Given the description of an element on the screen output the (x, y) to click on. 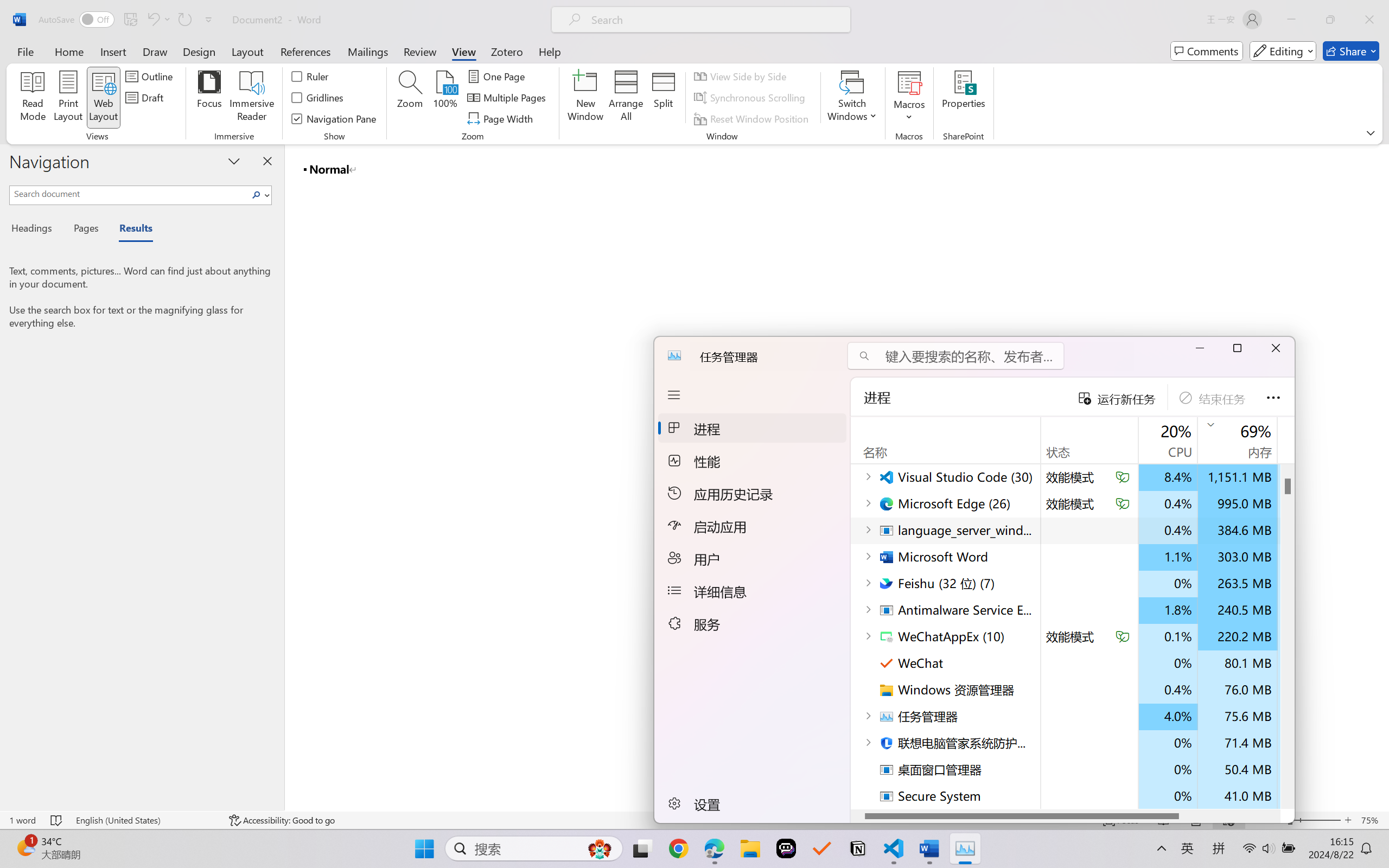
View Side by Side (741, 75)
Repeat Doc Close (184, 19)
100% (445, 97)
Undo <ApplyStyleToDoc>b__0 (152, 19)
Review (419, 51)
Properties (963, 97)
